Given the description of an element on the screen output the (x, y) to click on. 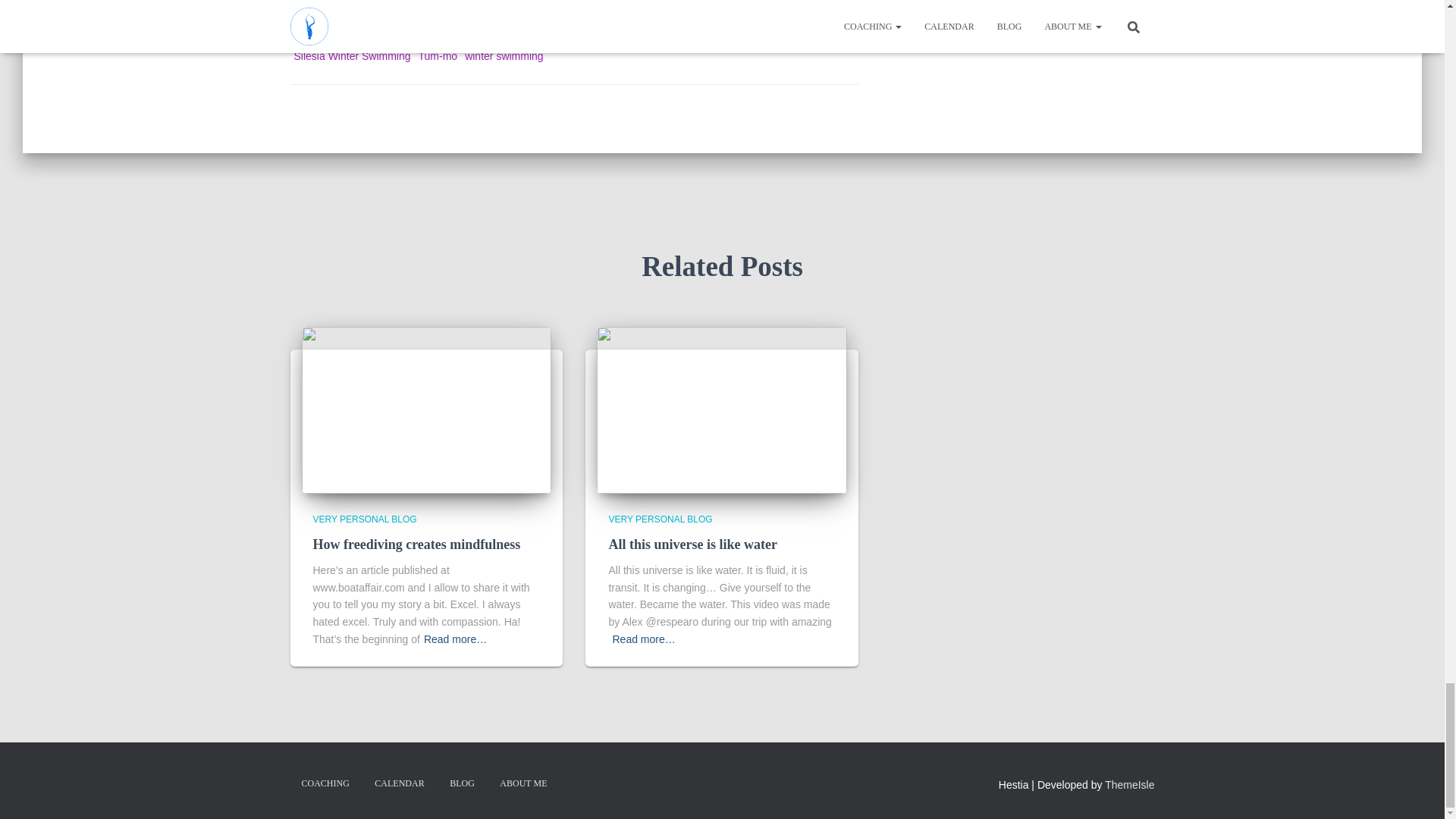
Mateusz Orlik (326, 6)
winter swimming (503, 55)
VERY PERSONAL BLOG (364, 519)
Open Polish Championship in Winter Swimming (406, 30)
How freediving creates mindfulness (426, 409)
Silesia Winter Swimming (352, 55)
View all posts in very personal blog (364, 519)
All this universe is like water (721, 409)
Tum-mo (438, 55)
View all posts in very personal blog (659, 519)
